Given the description of an element on the screen output the (x, y) to click on. 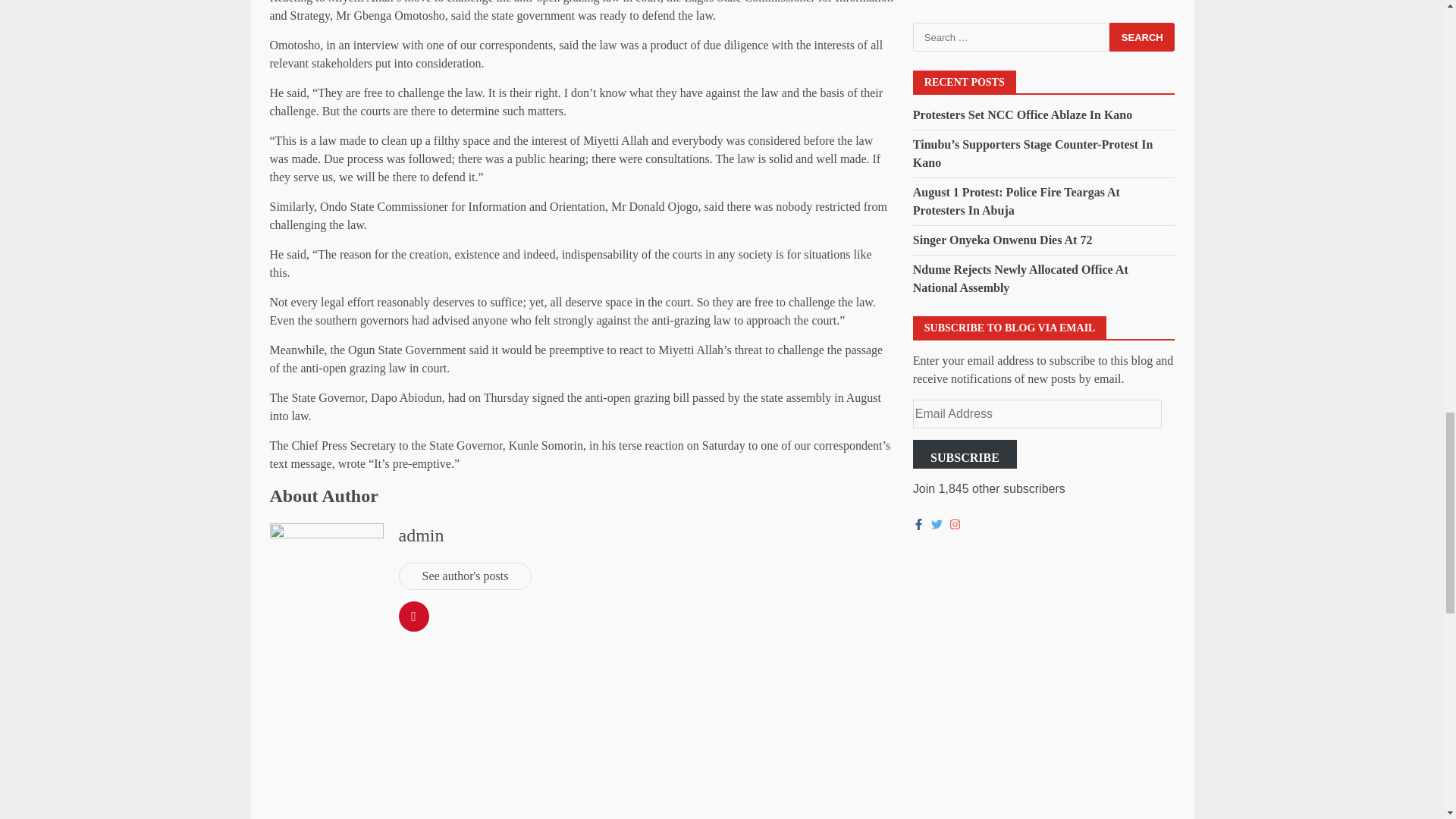
See author's posts (465, 575)
admin (421, 535)
